Given the description of an element on the screen output the (x, y) to click on. 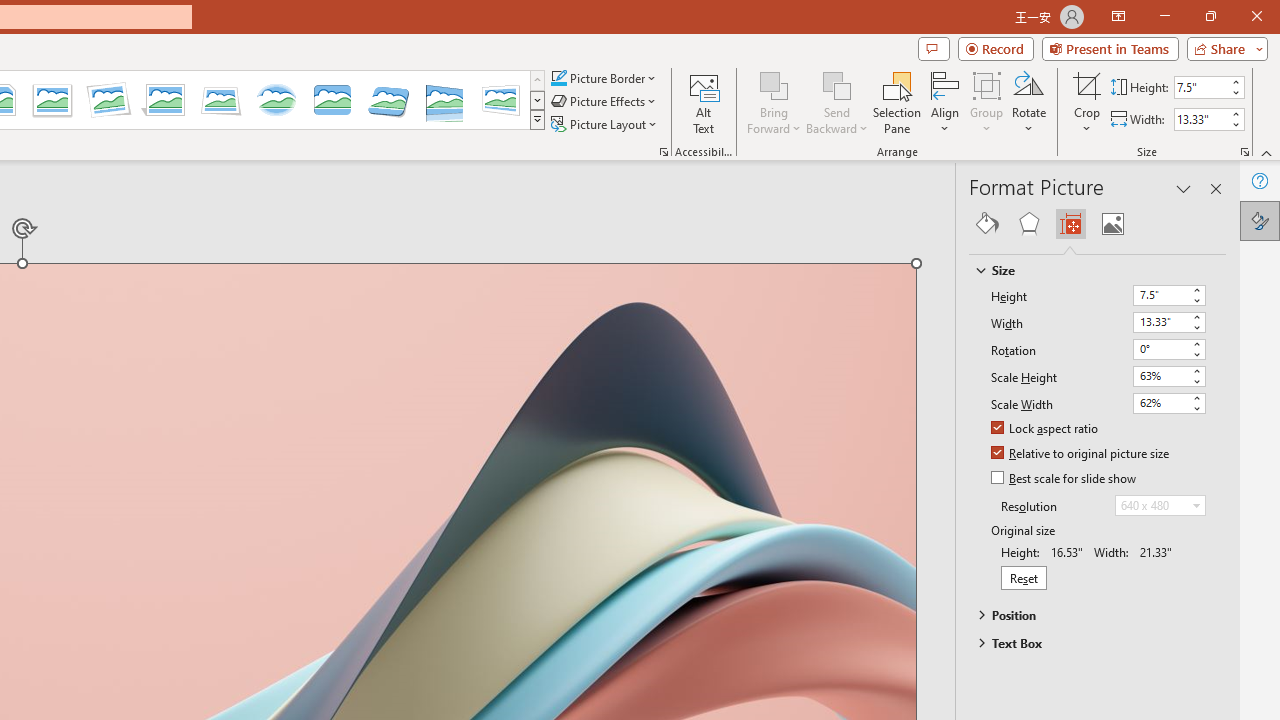
Position (1088, 615)
Crop (1087, 84)
Text Box (1088, 643)
Ribbon Display Options (1118, 16)
Reset (1023, 577)
Bevel Rectangle (332, 100)
Collapse the Ribbon (1267, 152)
Moderate Frame, White (52, 100)
Scale Width (1160, 402)
Rotation (1168, 349)
Send Backward (836, 102)
Soft Edge Oval (276, 100)
Bevel Perspective (388, 100)
Share (1223, 48)
Relaxed Perspective, White (221, 100)
